Given the description of an element on the screen output the (x, y) to click on. 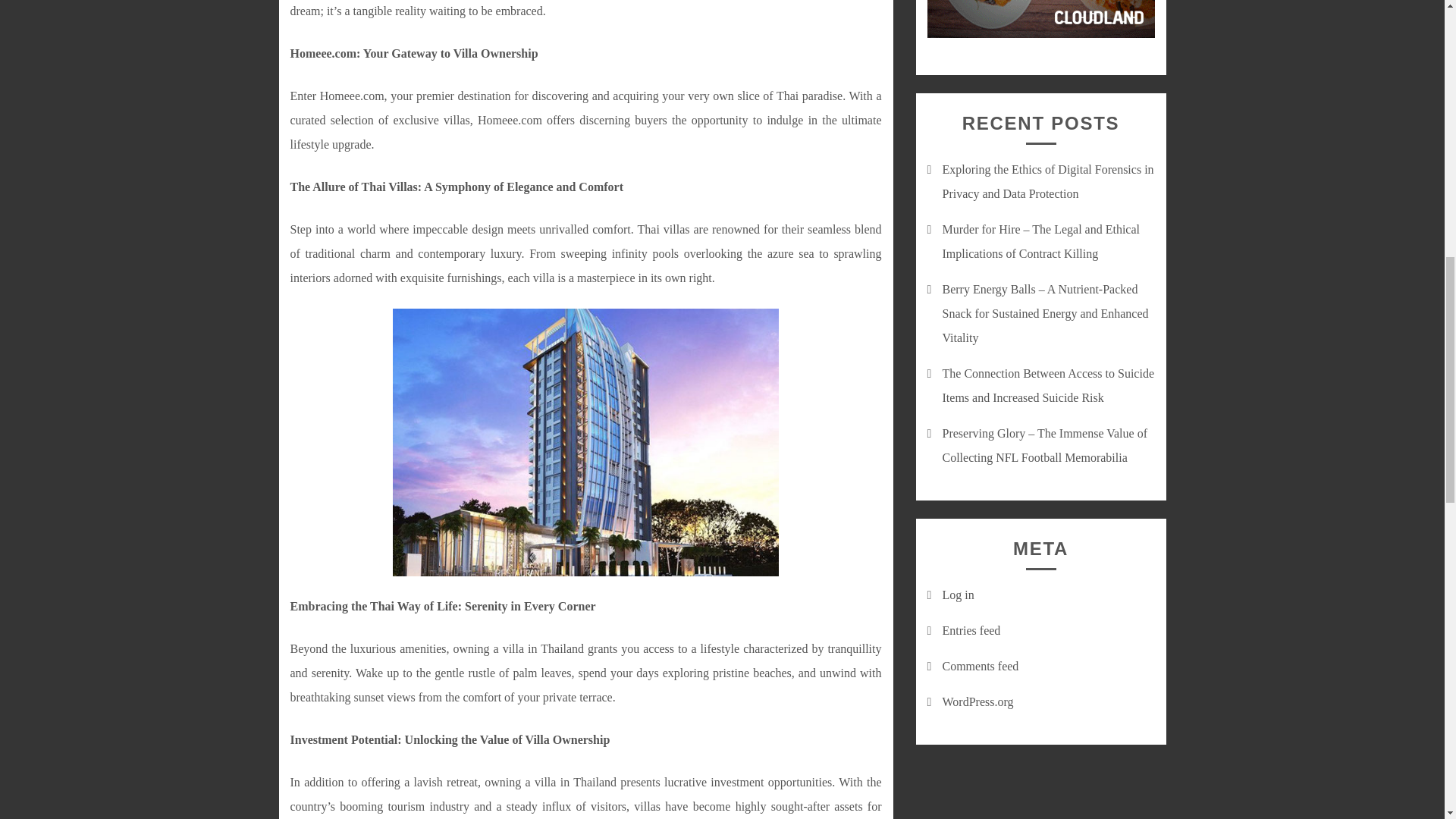
Log in (958, 594)
Entries feed (971, 630)
WordPress.org (977, 701)
Comments feed (979, 666)
